Given the description of an element on the screen output the (x, y) to click on. 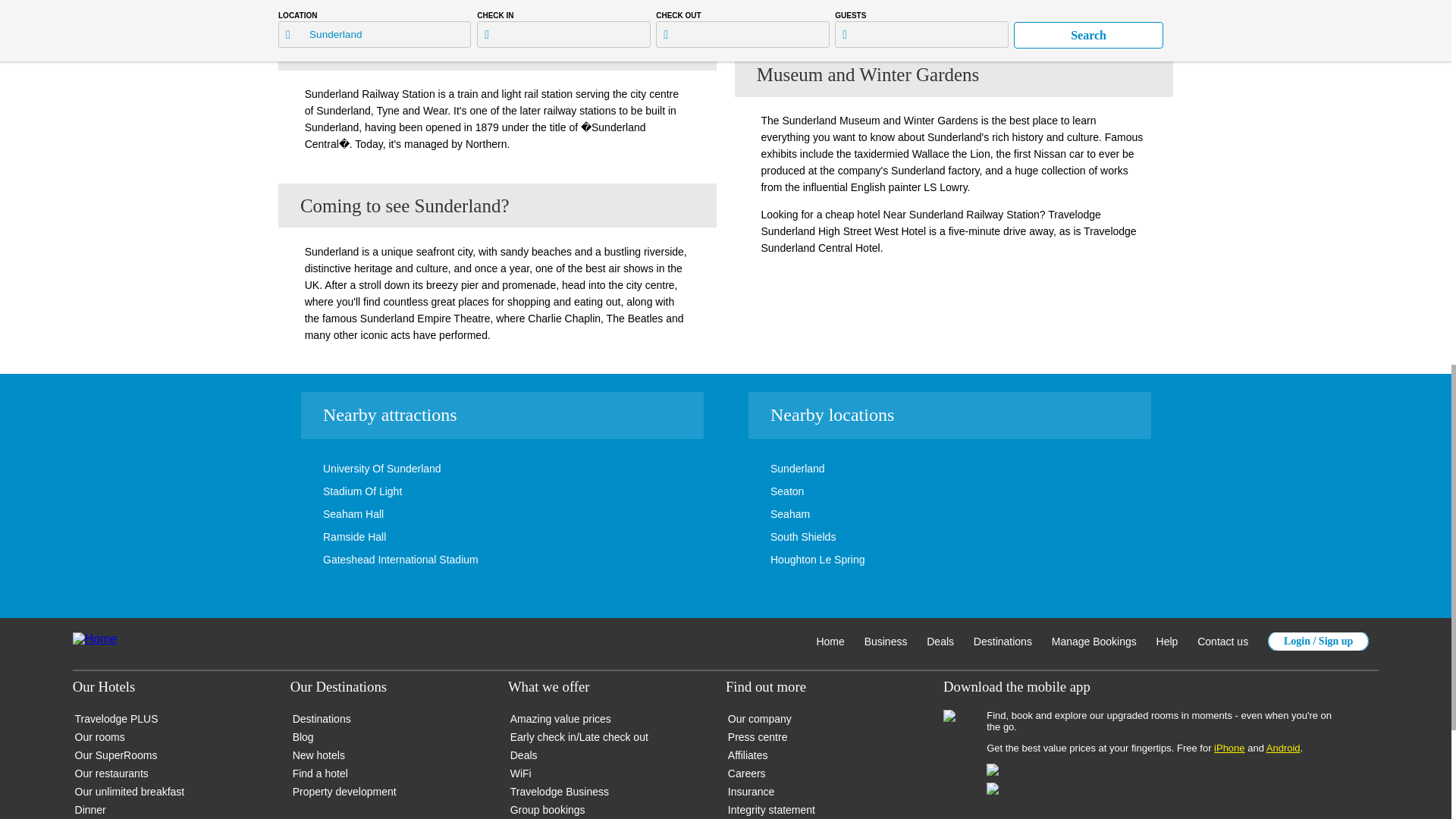
Sunderland (775, 468)
Seaton (764, 491)
Houghton Le Spring (794, 559)
Seaham (767, 513)
Ramside Hall (331, 536)
Stadium Of Light (339, 491)
Gateshead International Stadium (378, 559)
University Of Sunderland (359, 468)
Seaham Hall (331, 513)
South Shields (780, 536)
